Given the description of an element on the screen output the (x, y) to click on. 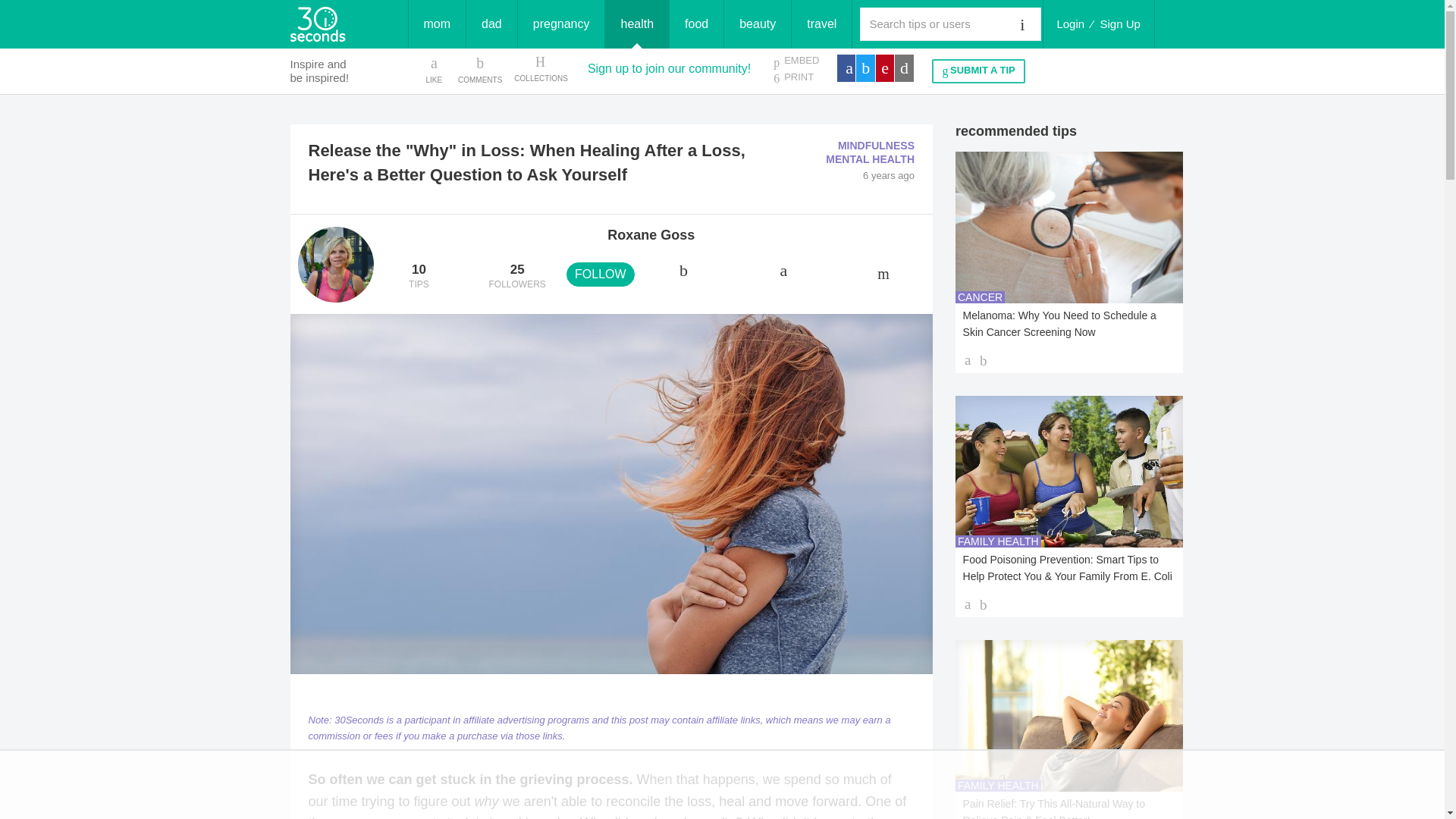
SUBMIT A TIP (978, 70)
COMMENTS (480, 68)
Sign Up (1120, 23)
pregnancy (561, 24)
MENTAL HEALTH (869, 159)
food (696, 24)
MINDFULNESS (876, 145)
travel (821, 24)
Sign up to join our community! (418, 276)
